Given the description of an element on the screen output the (x, y) to click on. 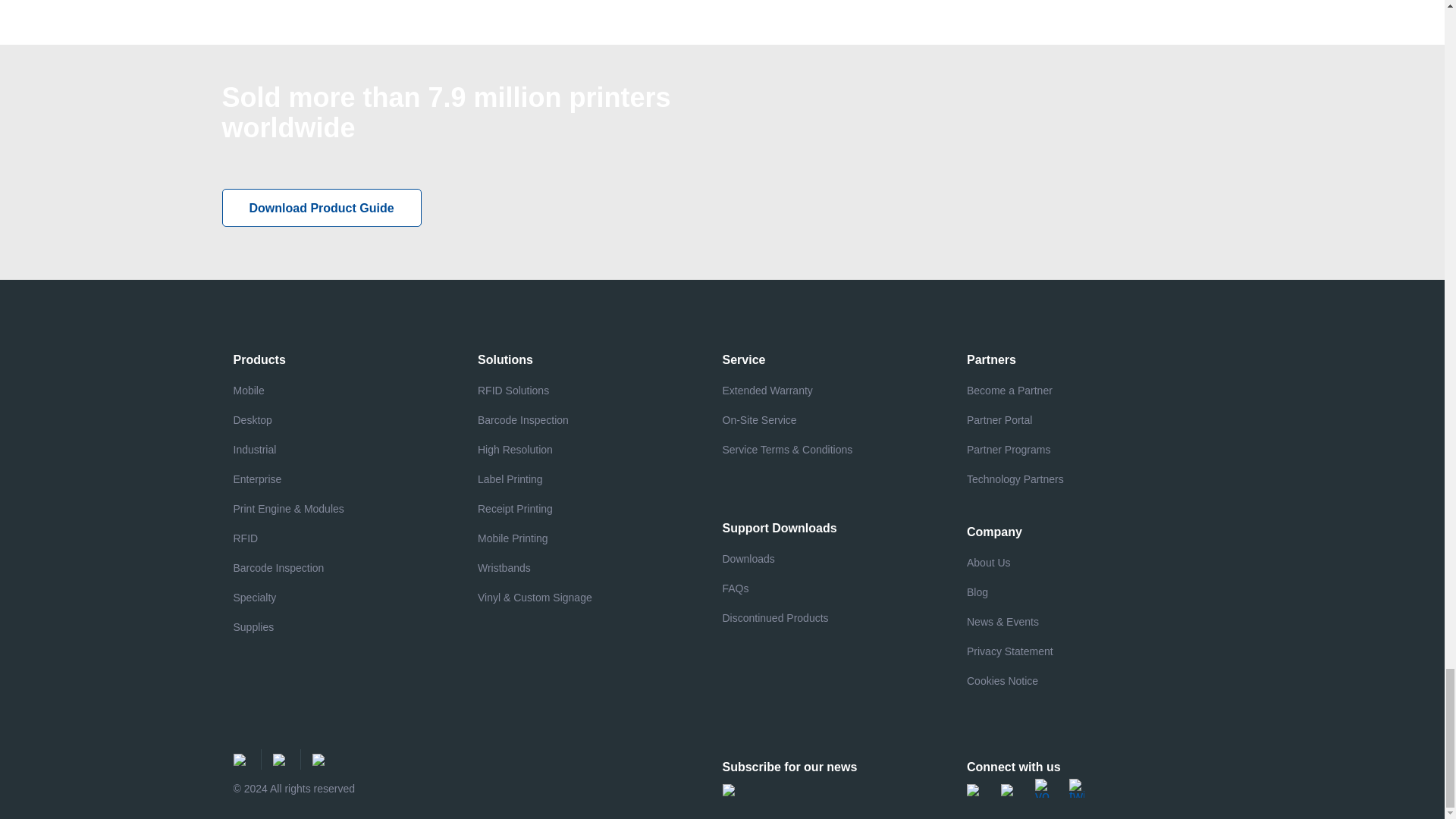
Subscribe to our news (729, 789)
